Given the description of an element on the screen output the (x, y) to click on. 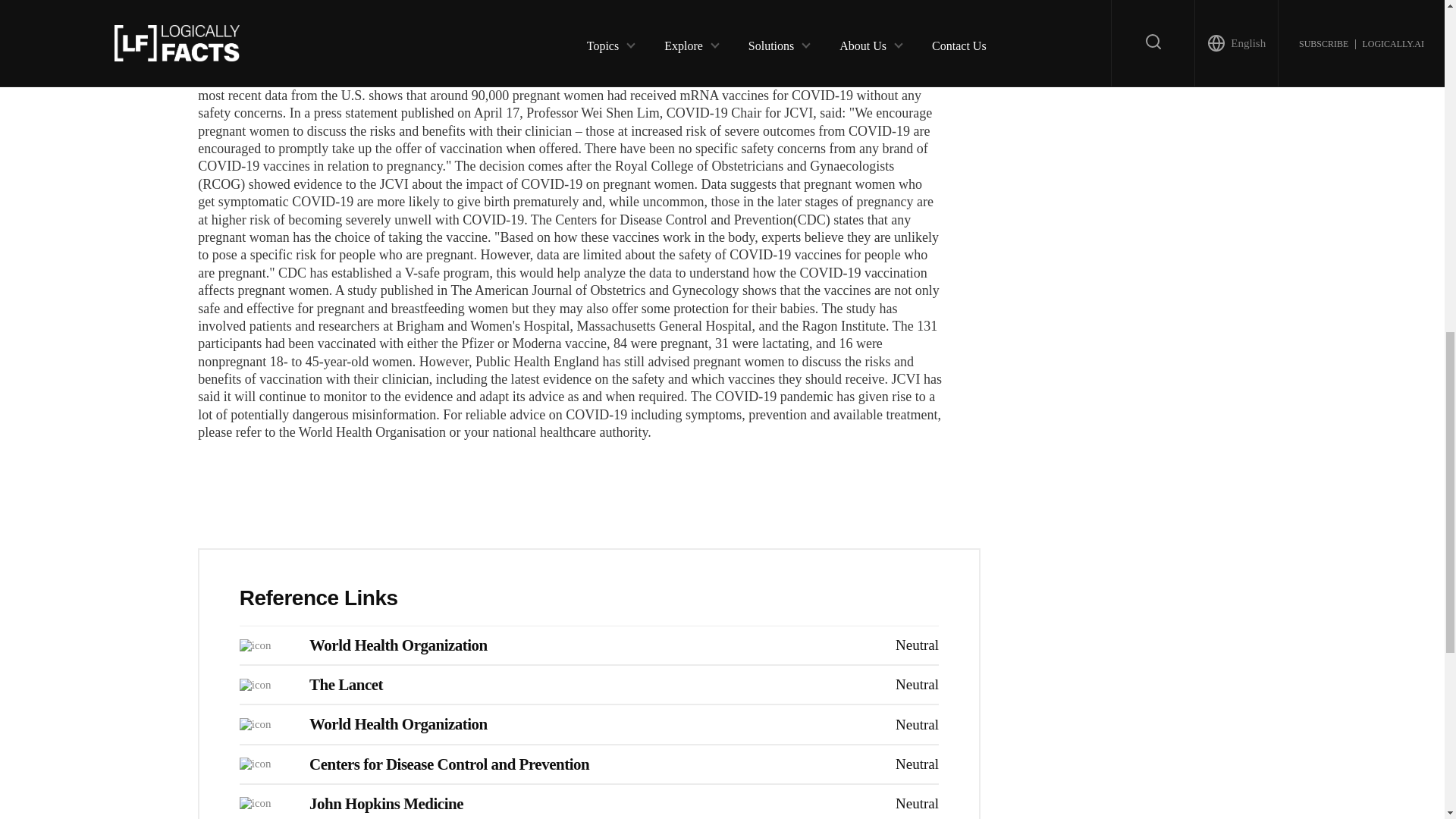
World Health Organization (397, 645)
